Given the description of an element on the screen output the (x, y) to click on. 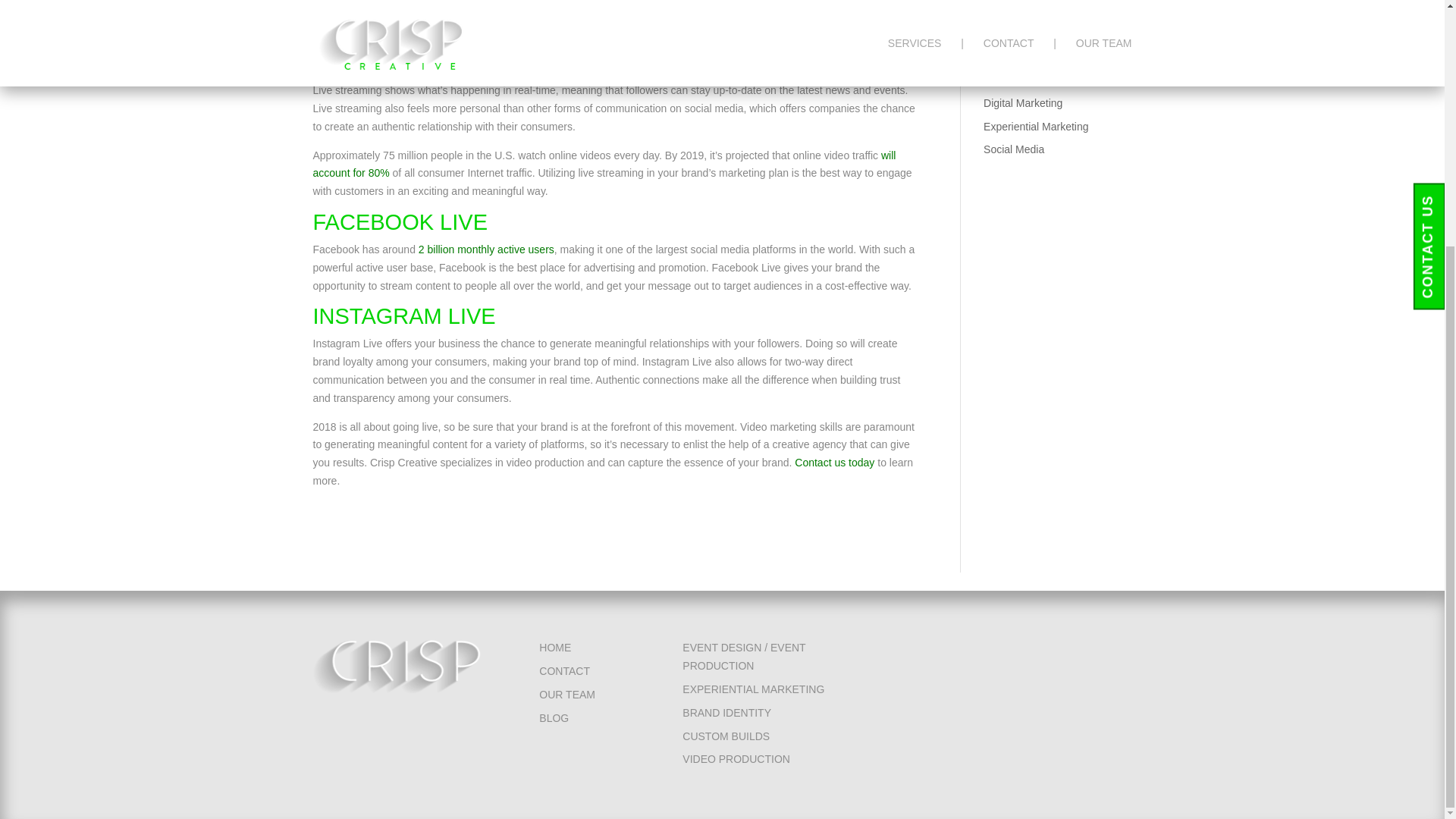
Digital Marketing (1023, 102)
August 2018 (1013, 11)
Contact us today (834, 462)
CONTACT (563, 671)
OUR TEAM (566, 694)
Experiential Marketing (1036, 126)
Social Media (1013, 149)
2 billion monthly active users (486, 249)
June 2018 (1008, 35)
HOME (554, 647)
